Given the description of an element on the screen output the (x, y) to click on. 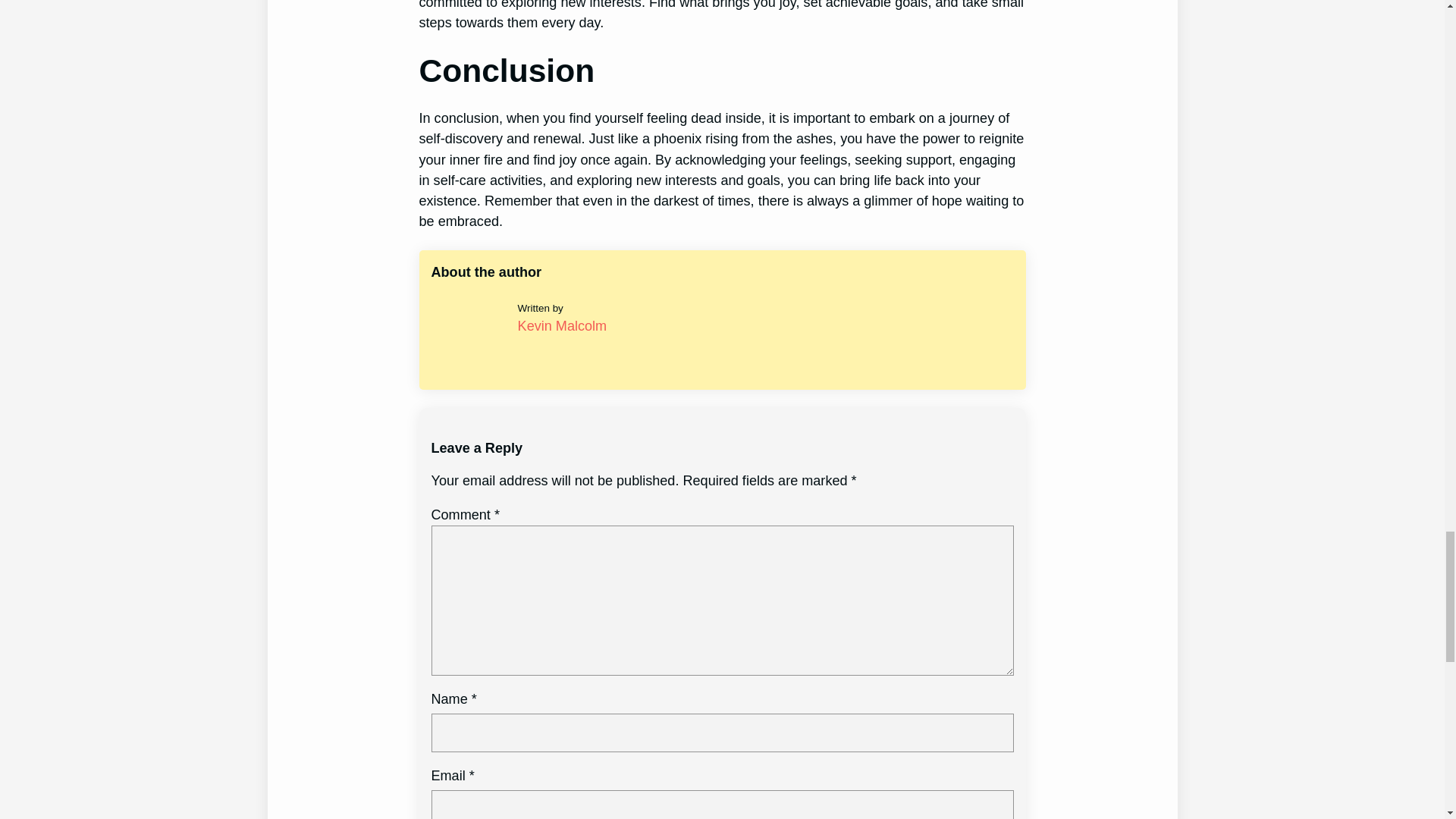
Kevin Malcolm (562, 325)
